Given the description of an element on the screen output the (x, y) to click on. 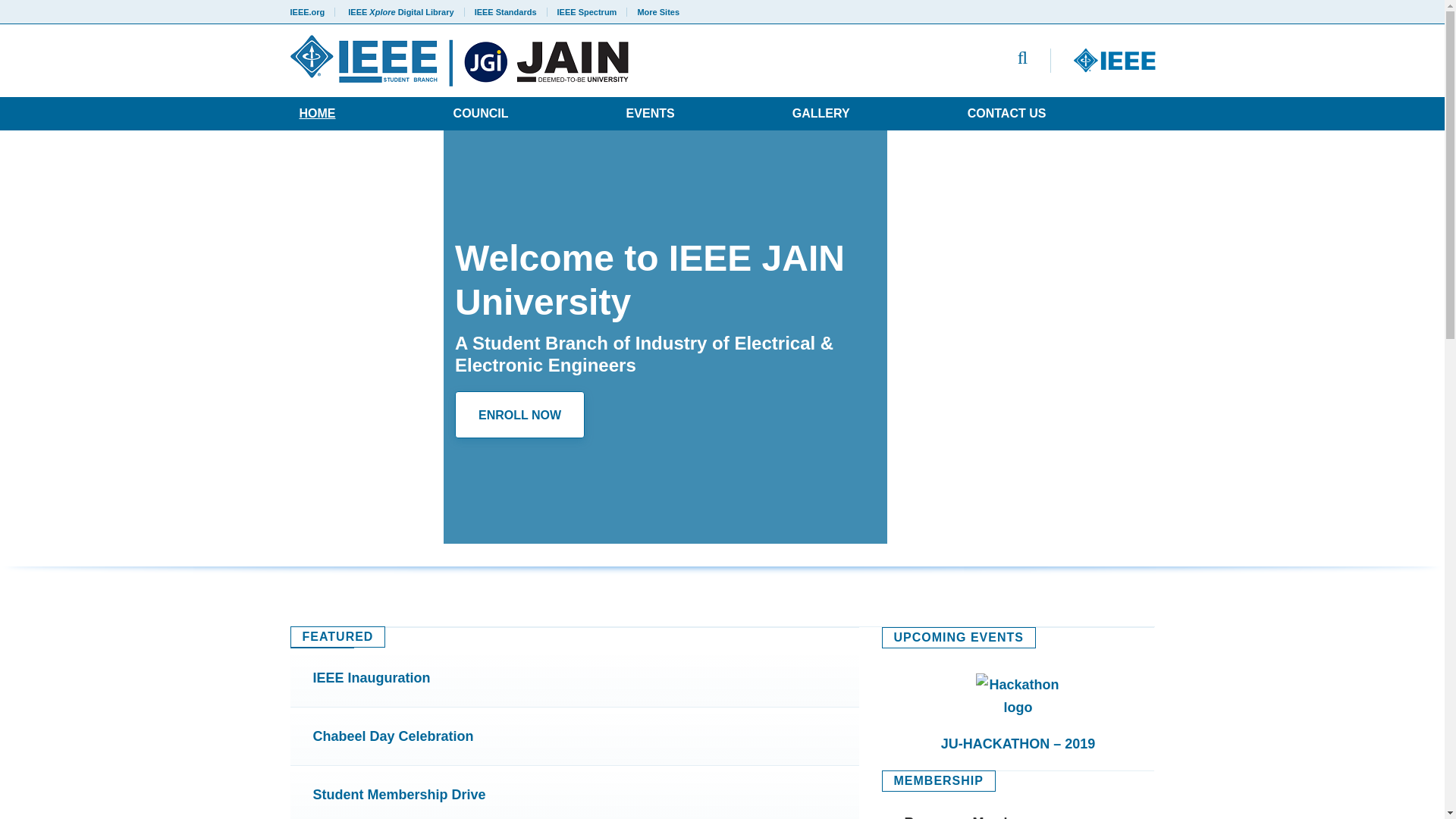
EVENTS (650, 113)
IEEE Spectrum (587, 11)
3 (145, 513)
Chabeel Day Celebration (574, 736)
IEEE Standards (505, 11)
COUNCIL (481, 113)
CONTACT US (1006, 113)
IEEE Inauguration (574, 677)
IEEE.org (311, 11)
Enroll Now (519, 414)
GALLERY (821, 113)
IEEE JAIN UNIVERSITY (536, 60)
IEEE Xplore Digital Library (400, 11)
More Sites (653, 11)
2 (116, 513)
